Given the description of an element on the screen output the (x, y) to click on. 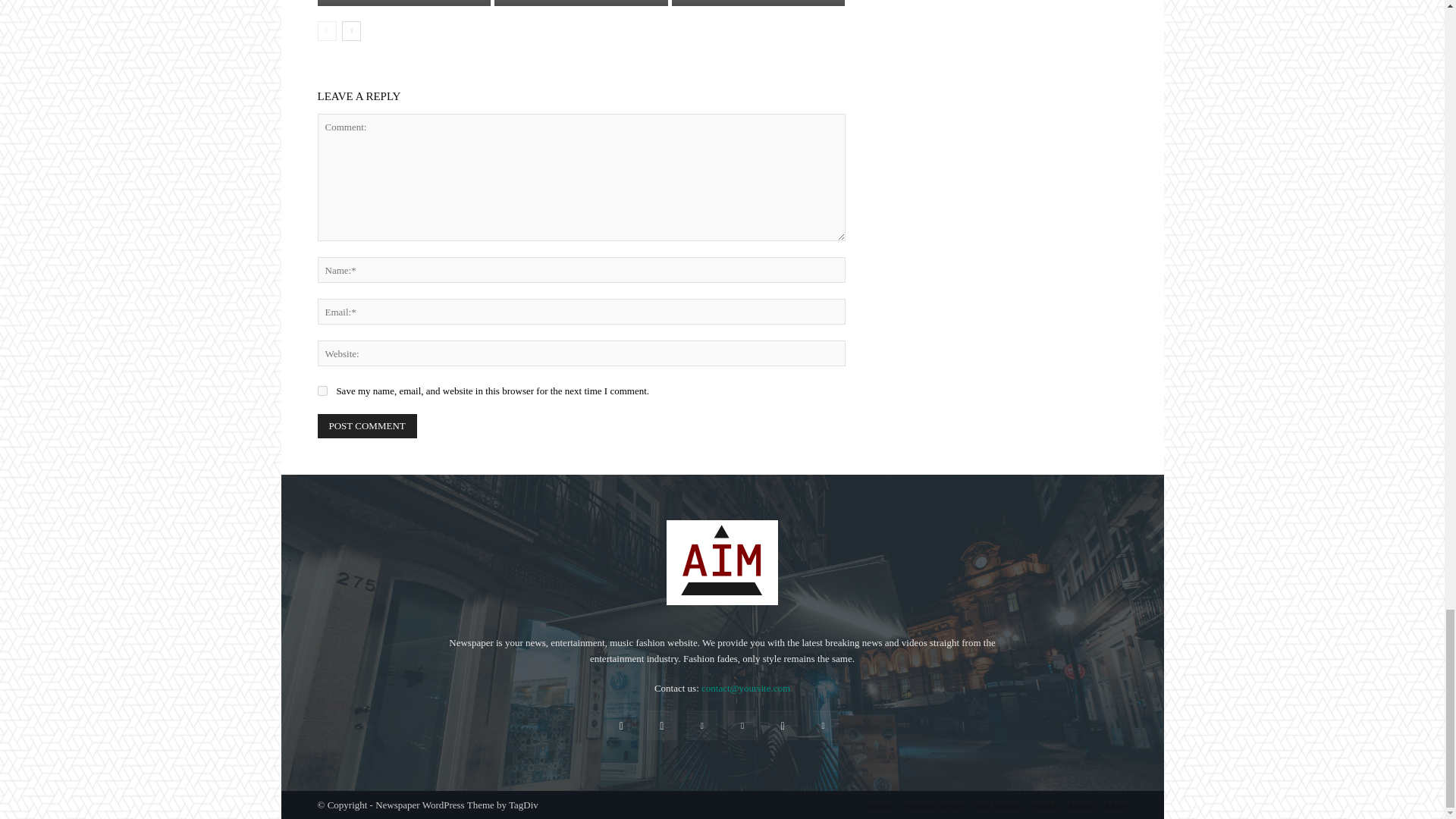
Post Comment (366, 426)
yes (321, 390)
